Given the description of an element on the screen output the (x, y) to click on. 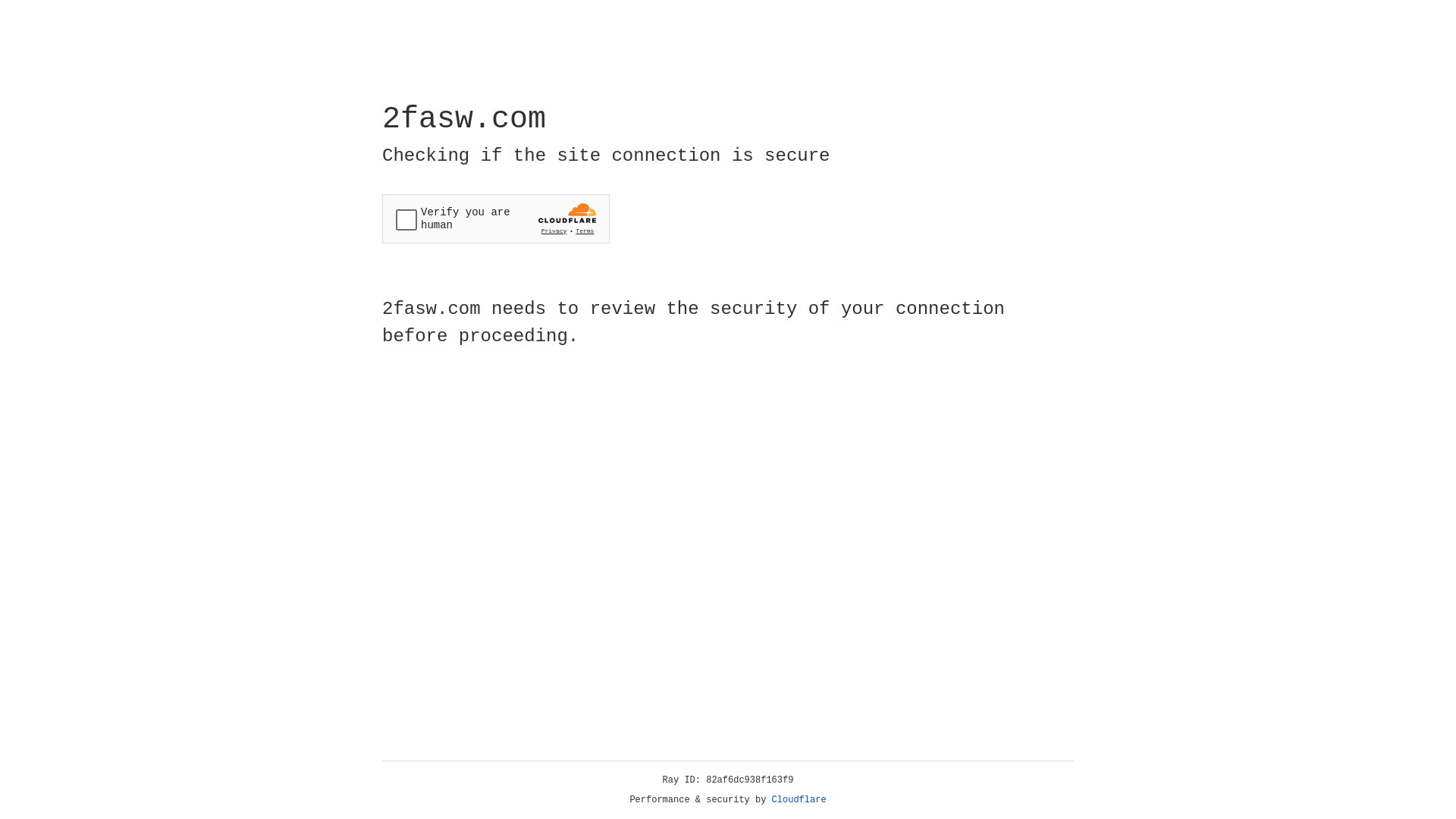
Widget containing a Cloudflare security challenge Element type: hover (495, 218)
Cloudflare Element type: text (798, 799)
